Given the description of an element on the screen output the (x, y) to click on. 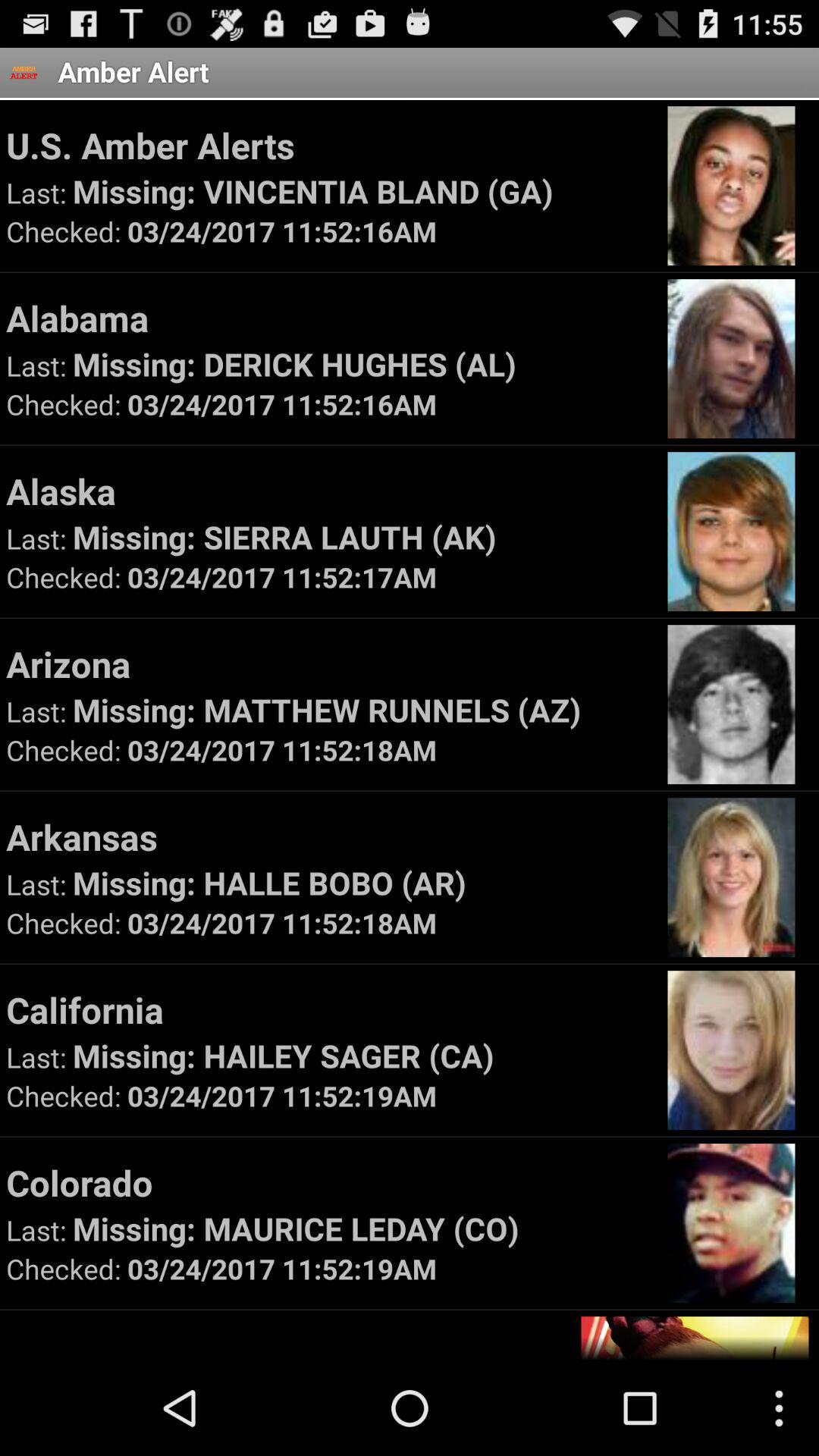
launch the app above missing derick hughes item (329, 318)
